Given the description of an element on the screen output the (x, y) to click on. 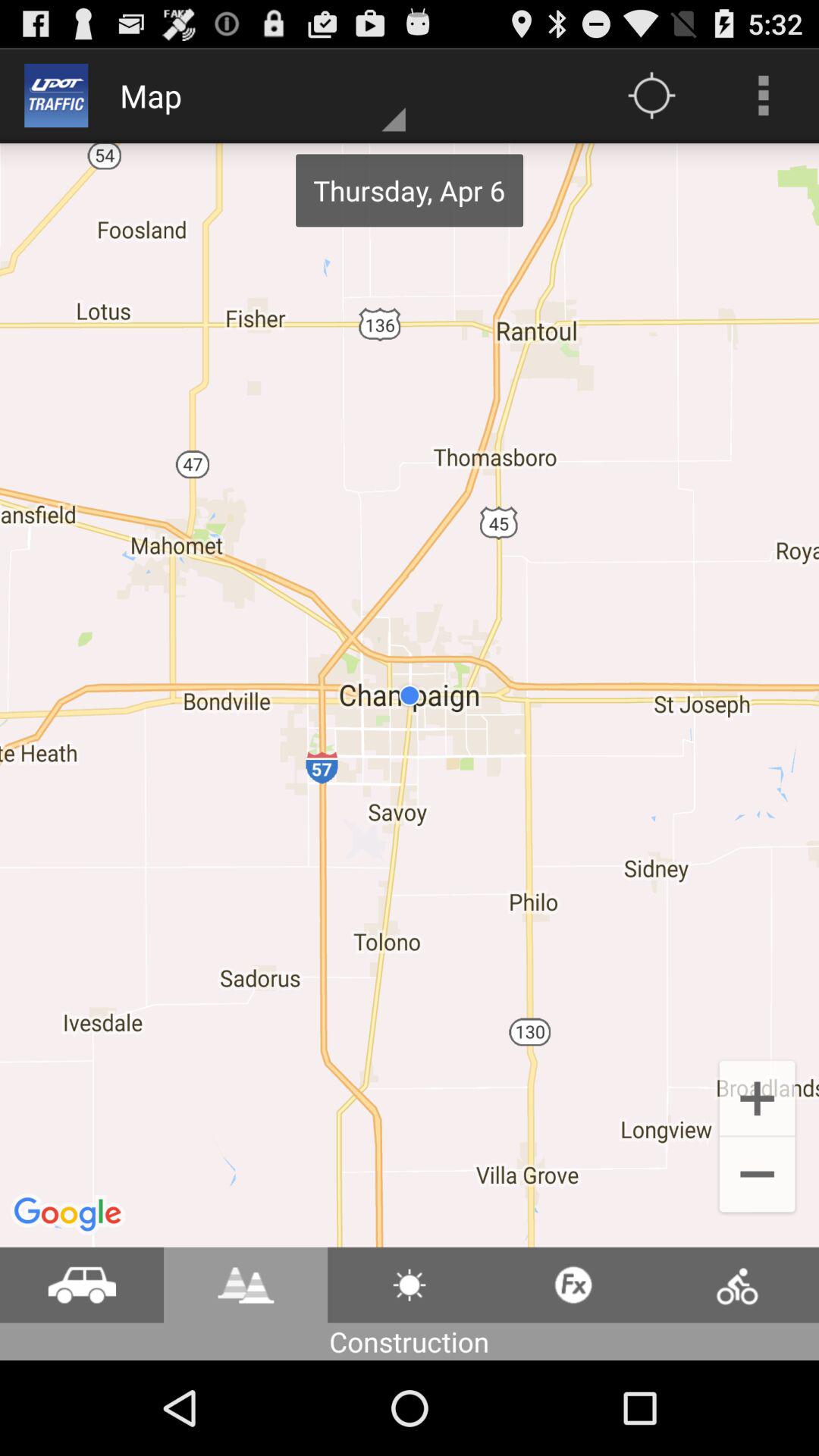
toggle road construction activities (245, 1284)
